Given the description of an element on the screen output the (x, y) to click on. 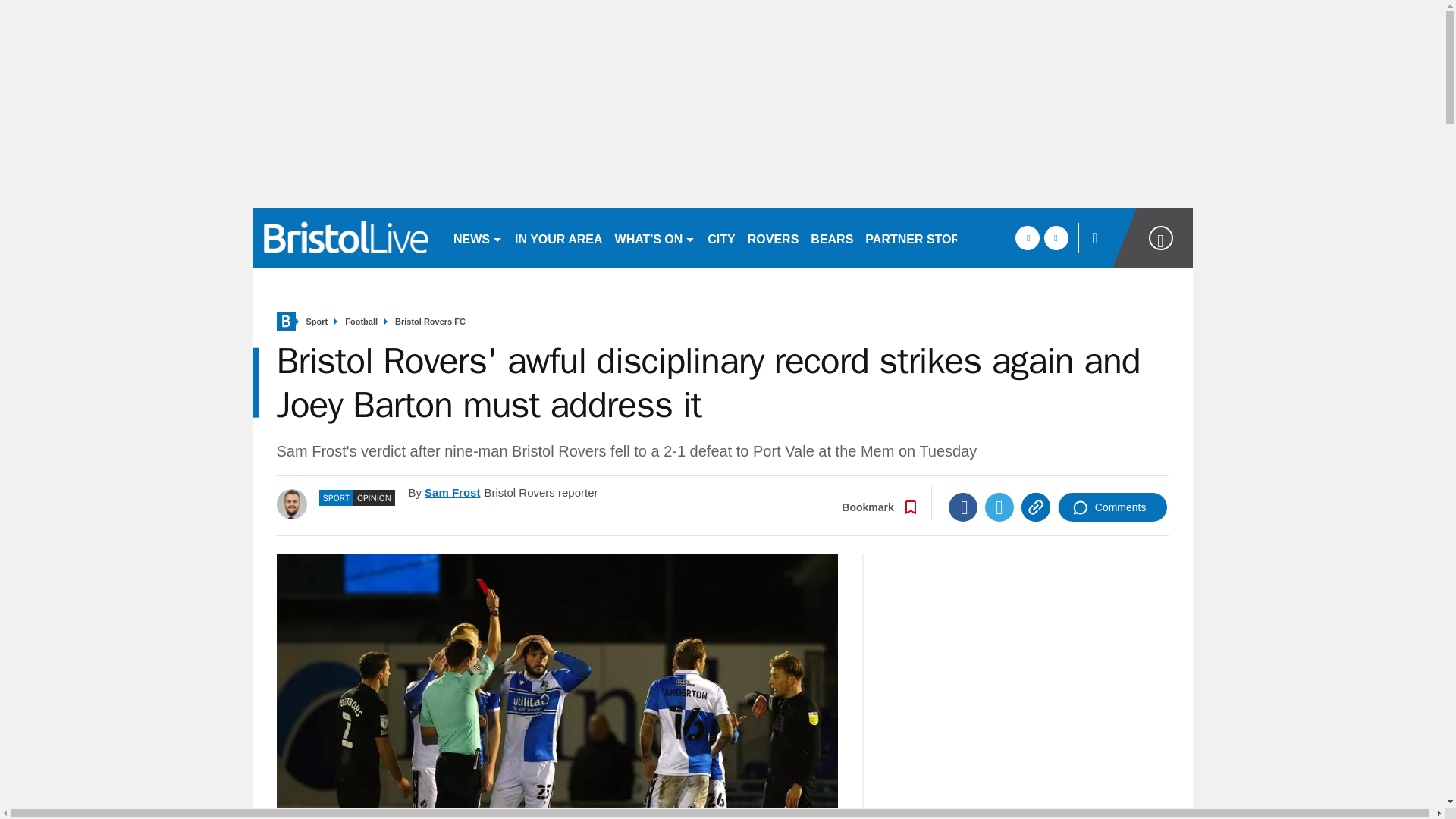
ROVERS (773, 238)
twitter (1055, 238)
NEWS (477, 238)
BEARS (832, 238)
Facebook (962, 507)
WHAT'S ON (654, 238)
Twitter (999, 507)
bristolpost (345, 238)
facebook (1026, 238)
PARTNER STORIES (922, 238)
